Given the description of an element on the screen output the (x, y) to click on. 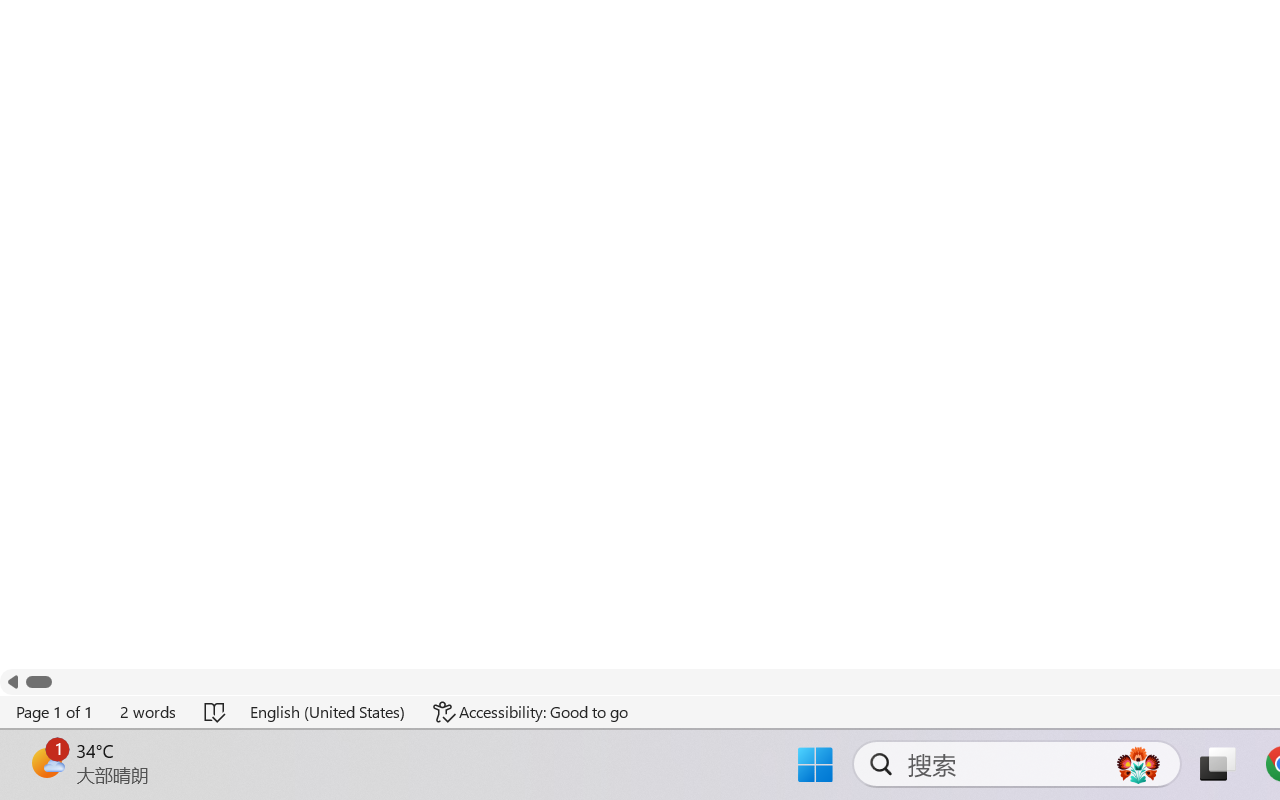
Word Count 2 words (149, 712)
Column left (12, 681)
Accessibility Checker Accessibility: Good to go (531, 712)
AutomationID: DynamicSearchBoxGleamImage (1138, 764)
Language English (United States) (328, 712)
Spelling and Grammar Check No Errors (216, 712)
AutomationID: BadgeAnchorLargeTicker (46, 762)
Page Number Page 1 of 1 (55, 712)
